Given the description of an element on the screen output the (x, y) to click on. 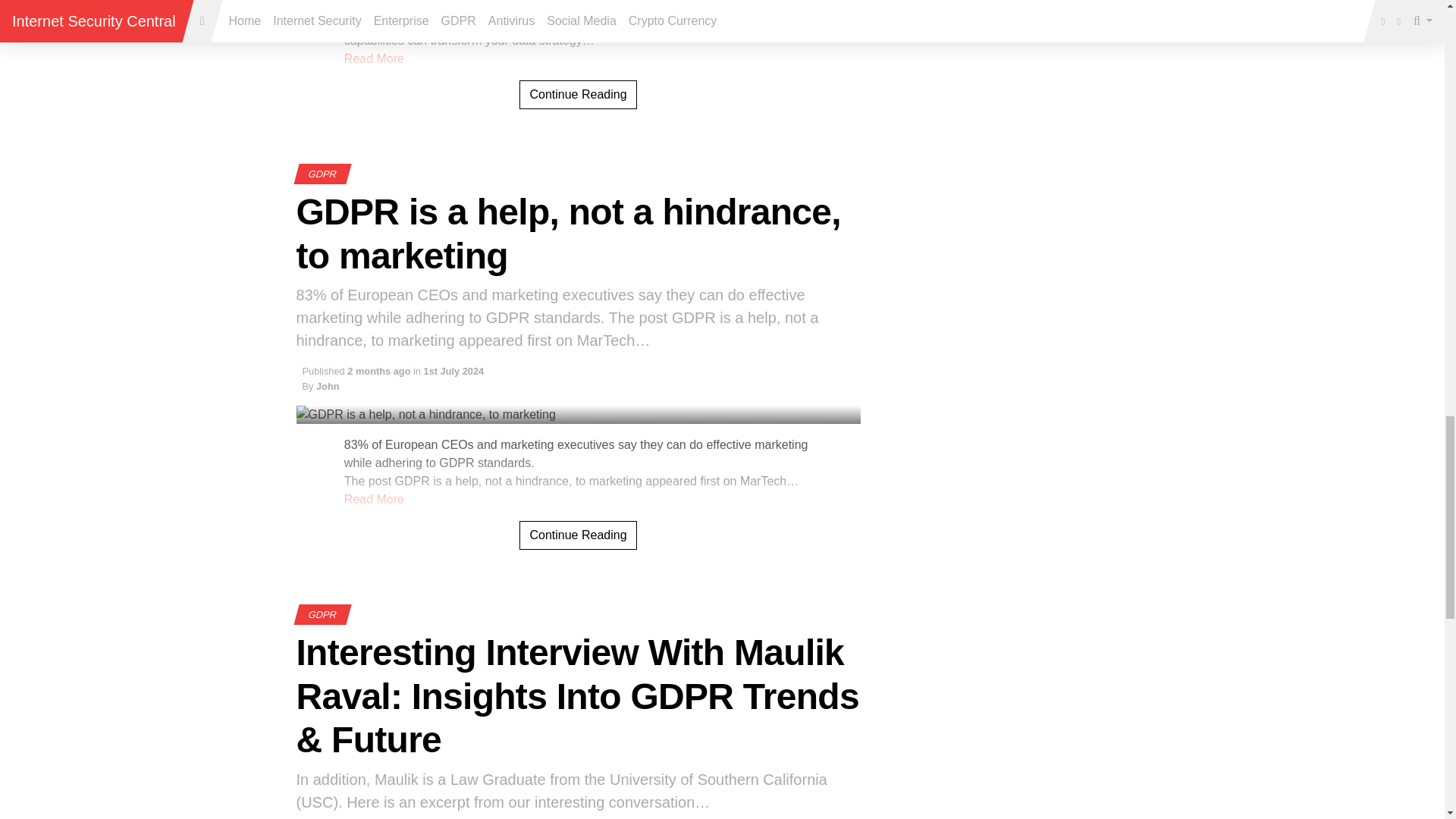
Continue Reading (577, 94)
Read More (373, 499)
Continue Reading (577, 534)
Read More (373, 58)
John (327, 386)
GDPR (320, 173)
GDPR is a help, not a hindrance, to marketing (577, 534)
Posts by John (327, 386)
GDPR is a help, not a hindrance, to marketing (567, 233)
GDPR is a help, not a hindrance, to marketing (567, 233)
